Given the description of an element on the screen output the (x, y) to click on. 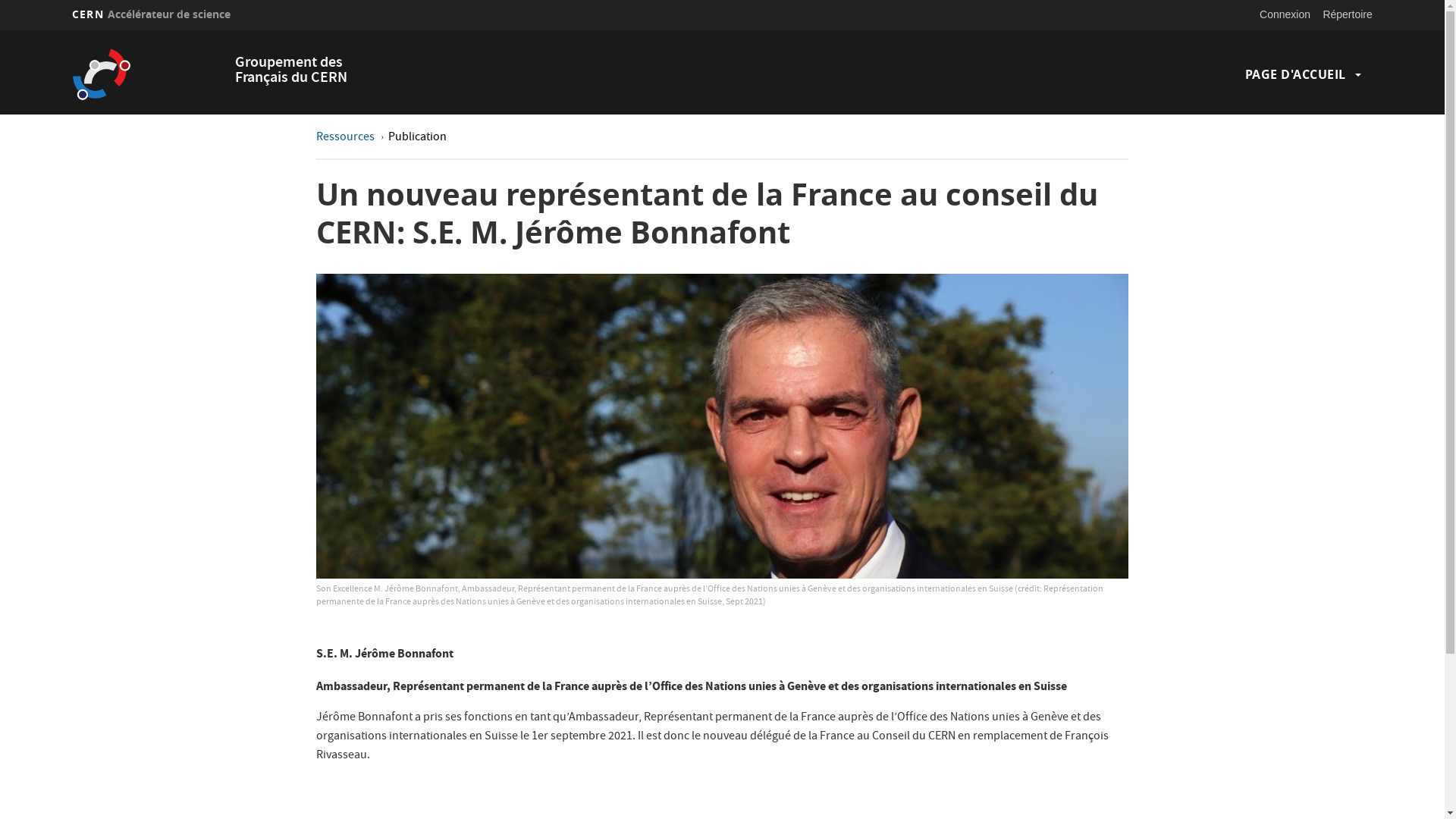
Publication Element type: text (417, 137)
Aller au contenu principal Element type: text (0, 30)
Connexion Element type: text (1284, 14)
Ressources Element type: text (346, 137)
PAGE D'ACCUEIL Element type: text (1295, 74)
Home Element type: hover (149, 74)
